Given the description of an element on the screen output the (x, y) to click on. 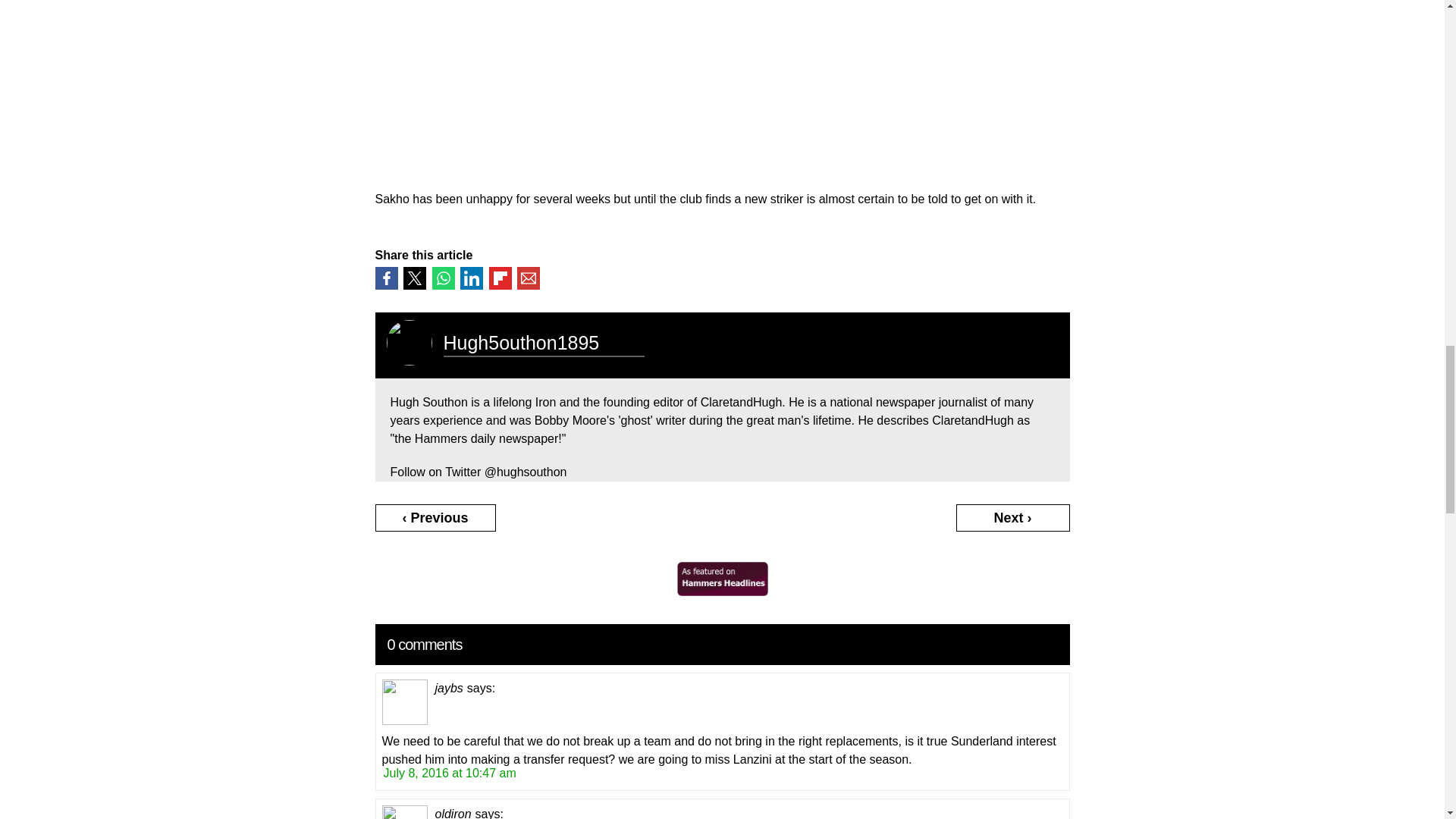
share on Facebook (385, 277)
share on Flipboard (499, 277)
share on LinkedIn (471, 277)
share on Email (528, 277)
share on Twitter (414, 277)
Hugh5outhon1895 (520, 342)
share on WhatsApp (443, 277)
West Ham News (722, 591)
